Given the description of an element on the screen output the (x, y) to click on. 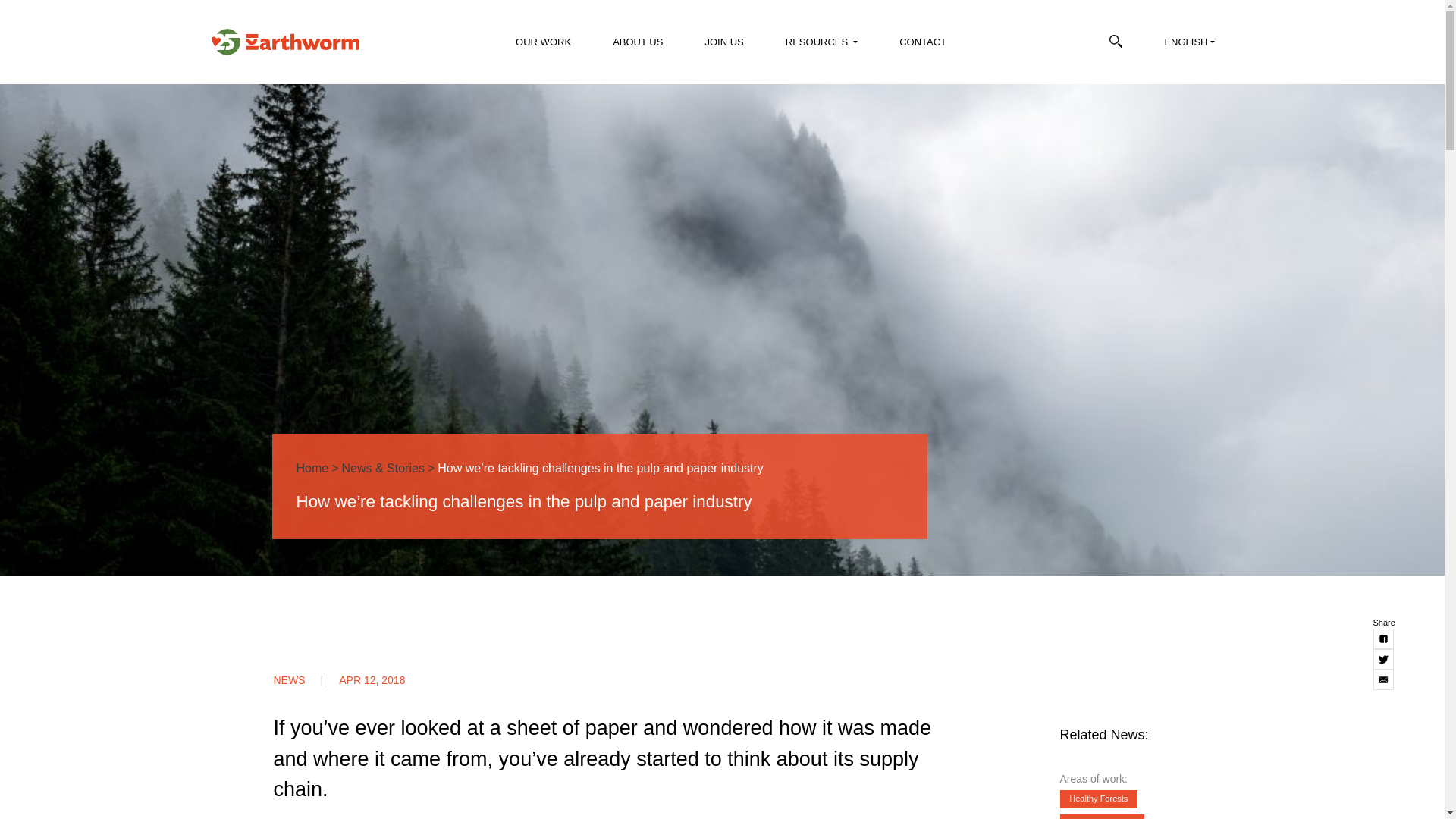
OUR WORK (541, 46)
Share via E-mail (1383, 679)
Share on Facebook (1383, 638)
NEWS (304, 680)
ABOUT US (635, 46)
JOIN US (721, 46)
Healthy Forests (1098, 799)
Home (312, 468)
CONTACT (920, 46)
Resilient Farmers (1101, 816)
RESOURCES (818, 46)
ENGLISH (1187, 46)
Share on X (1383, 659)
